Given the description of an element on the screen output the (x, y) to click on. 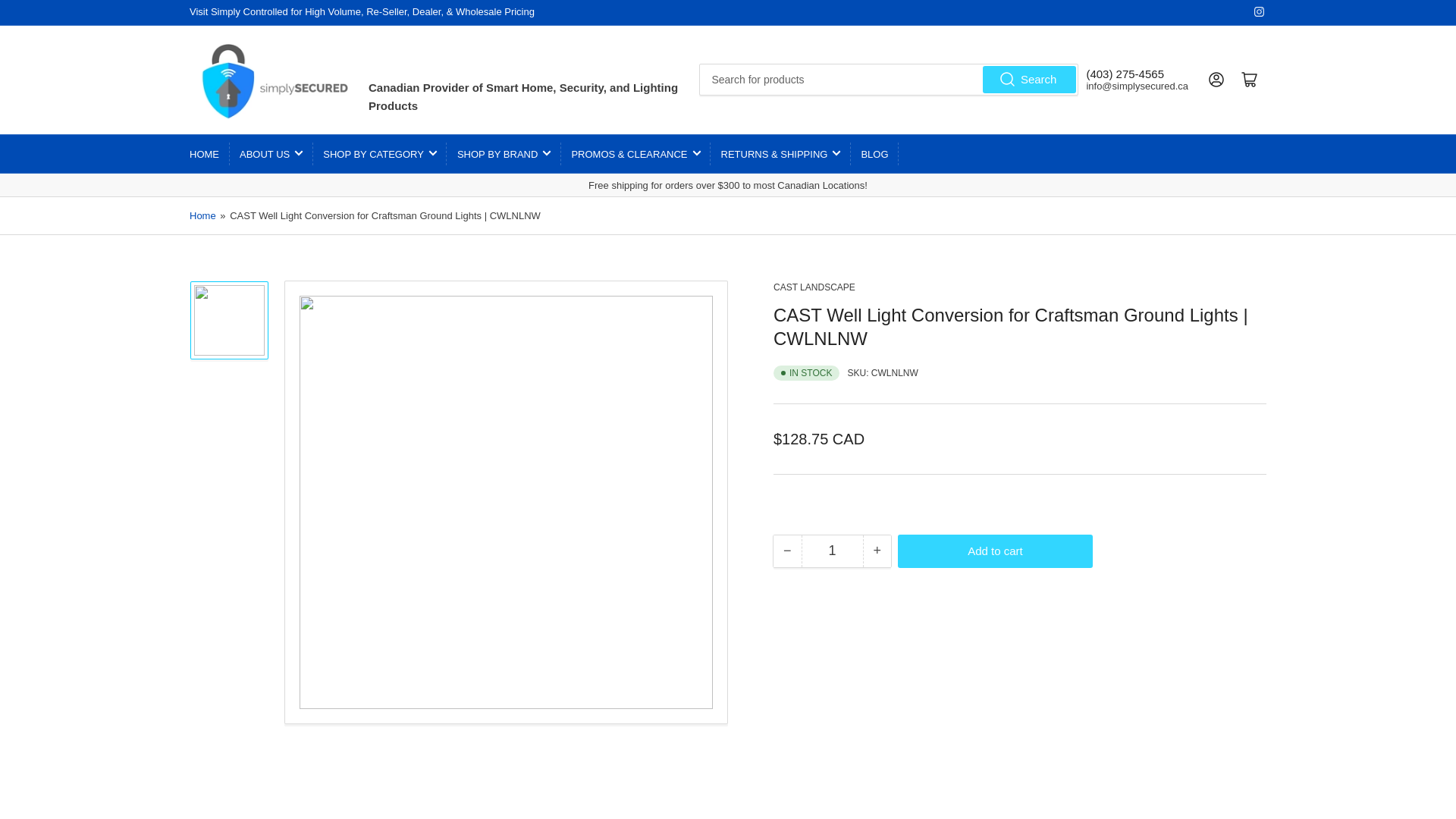
1 (831, 551)
Open mini cart (1249, 79)
Search (1029, 79)
Instagram (1259, 11)
Log in (1216, 79)
